Given the description of an element on the screen output the (x, y) to click on. 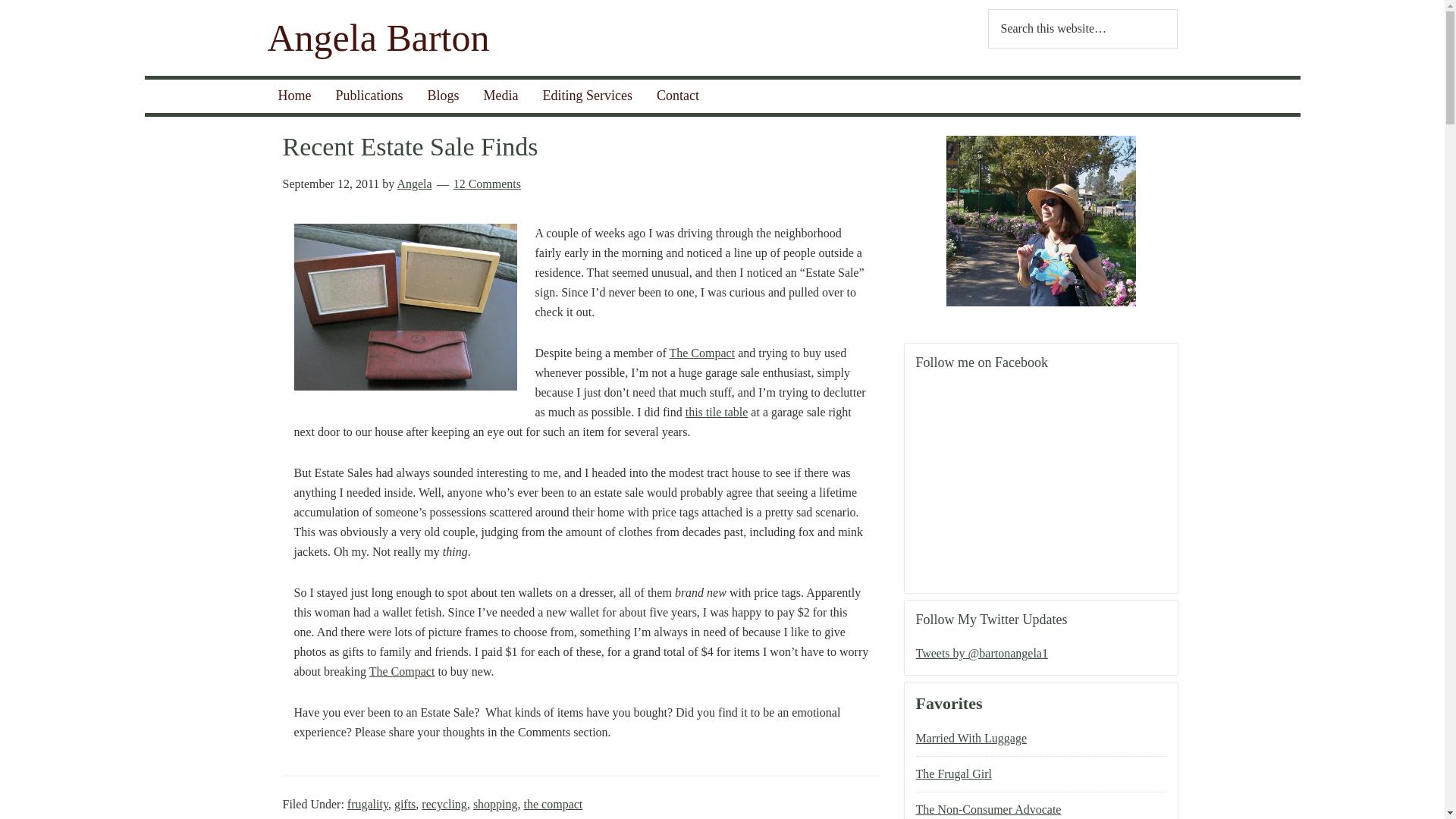
The Compact (701, 352)
12 Comments (486, 183)
The Compact (402, 671)
recycling (444, 803)
Angela Barton (377, 37)
Angela (413, 183)
frugality (367, 803)
Media (501, 95)
